Given the description of an element on the screen output the (x, y) to click on. 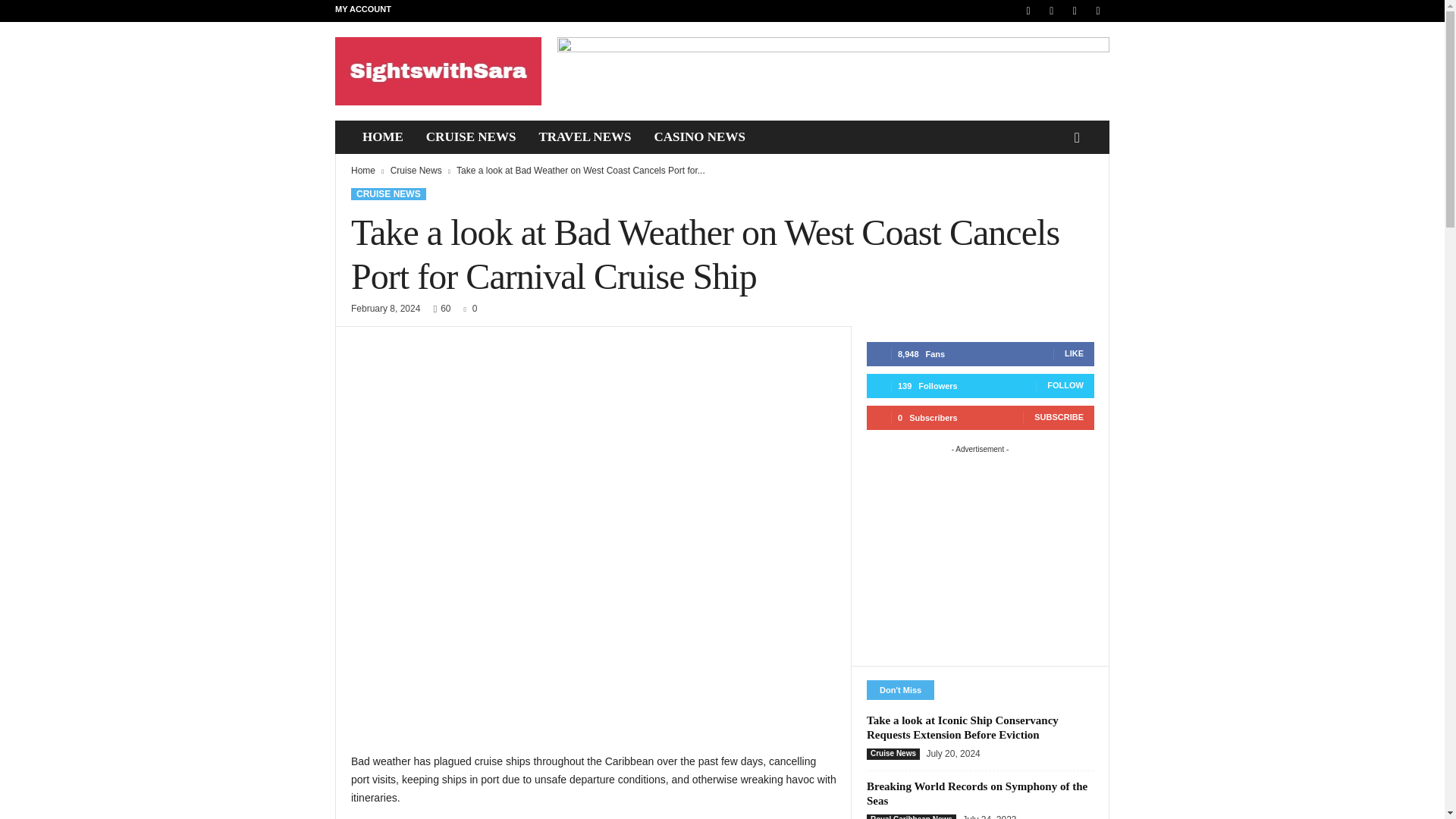
Cruise News (416, 170)
0 (467, 308)
View all posts in Cruise News (416, 170)
TRAVEL NEWS (584, 136)
SightswithSara (437, 70)
HOME (382, 136)
CASINO NEWS (698, 136)
CRUISE NEWS (470, 136)
Home (362, 170)
CRUISE NEWS (388, 193)
